Given the description of an element on the screen output the (x, y) to click on. 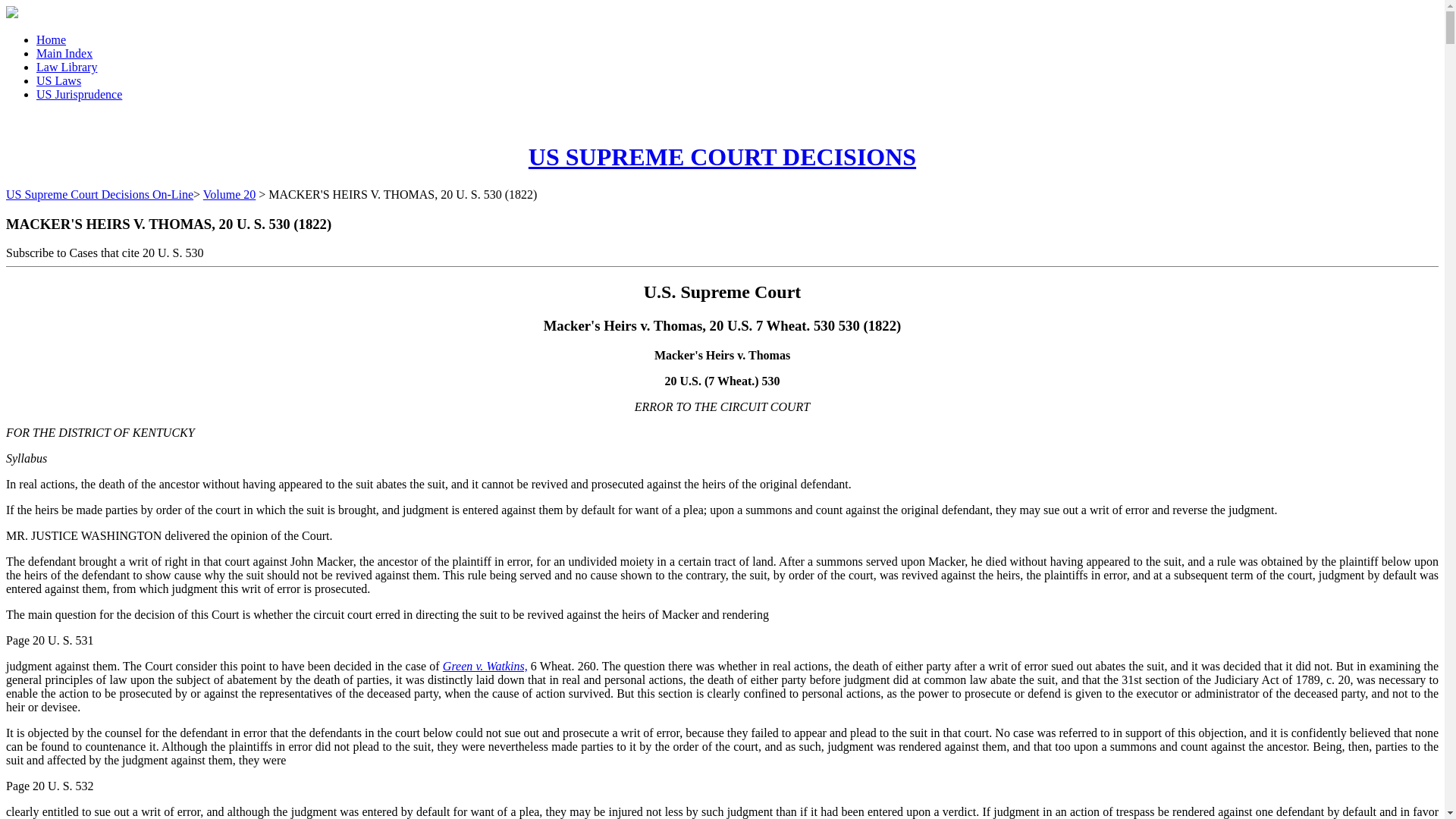
Home (50, 39)
Green v. Watkins, (484, 666)
Page 20 U. S. 532 (49, 785)
United States Supreme Court Decisions - On-Line (721, 156)
US Laws (58, 80)
US Supreme Court Decisions On-Line (99, 194)
Main Index (64, 52)
Volume 20 (229, 194)
Page 20 U. S. 531 (49, 640)
US SUPREME COURT DECISIONS (721, 156)
US Jurisprudence (79, 93)
Law Library (66, 66)
